Given the description of an element on the screen output the (x, y) to click on. 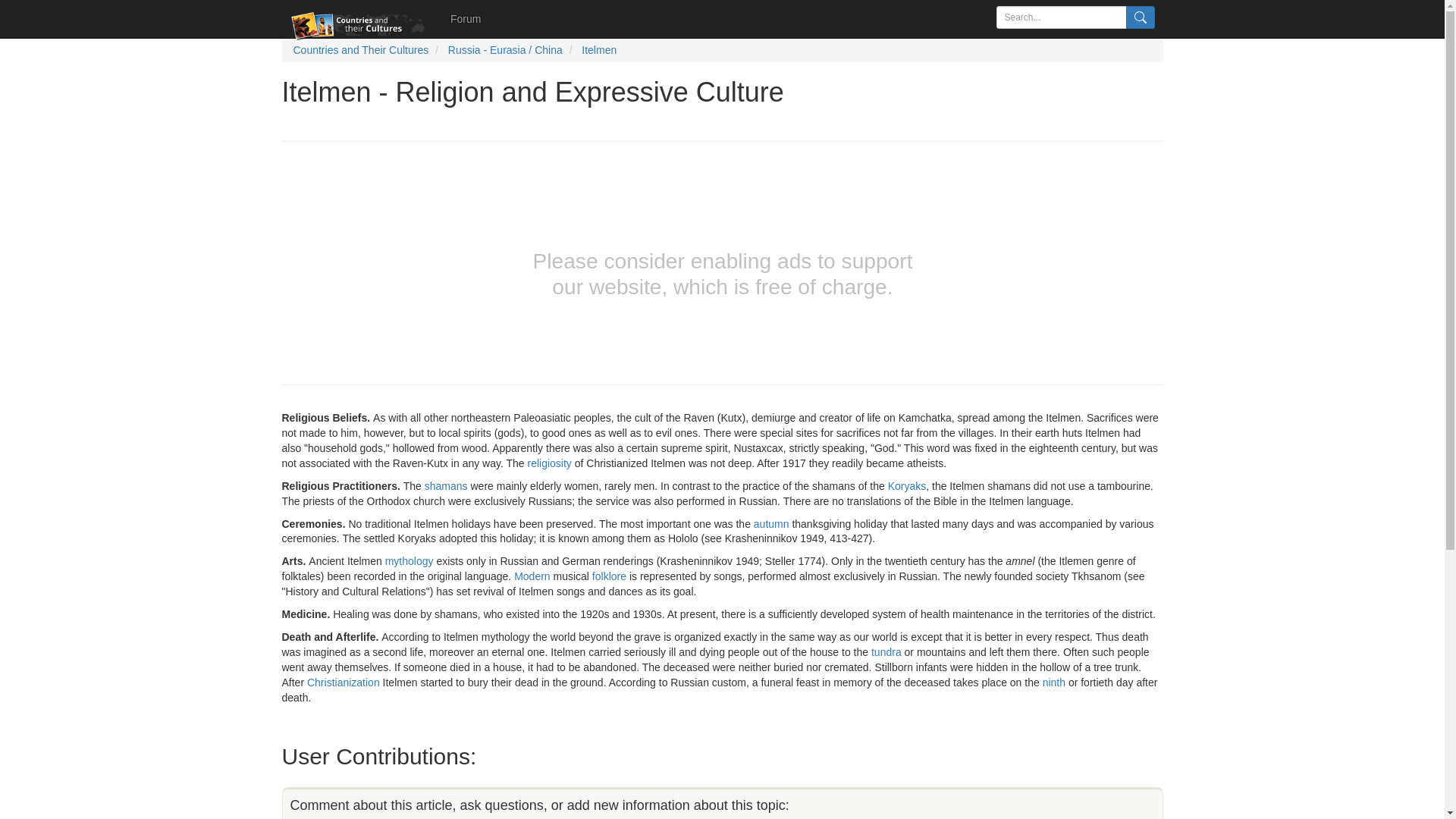
View 'tundra' definition from Wikipedia (885, 652)
Countries and Their Cultures (360, 50)
Koryaks (907, 485)
shamans (446, 485)
View 'koryaks' definition from Wikipedia (907, 485)
folklore (609, 576)
View 'folklore' definition from Wikipedia (609, 576)
View 'modern' definition from Wikipedia (531, 576)
View 'christianization' definition from Wikipedia (343, 682)
View 'mythology' definition from Wikipedia (409, 561)
ninth (1053, 682)
mythology (409, 561)
autumn (771, 522)
View 'religiosity' definition from Wikipedia (549, 463)
Forum (465, 18)
